Given the description of an element on the screen output the (x, y) to click on. 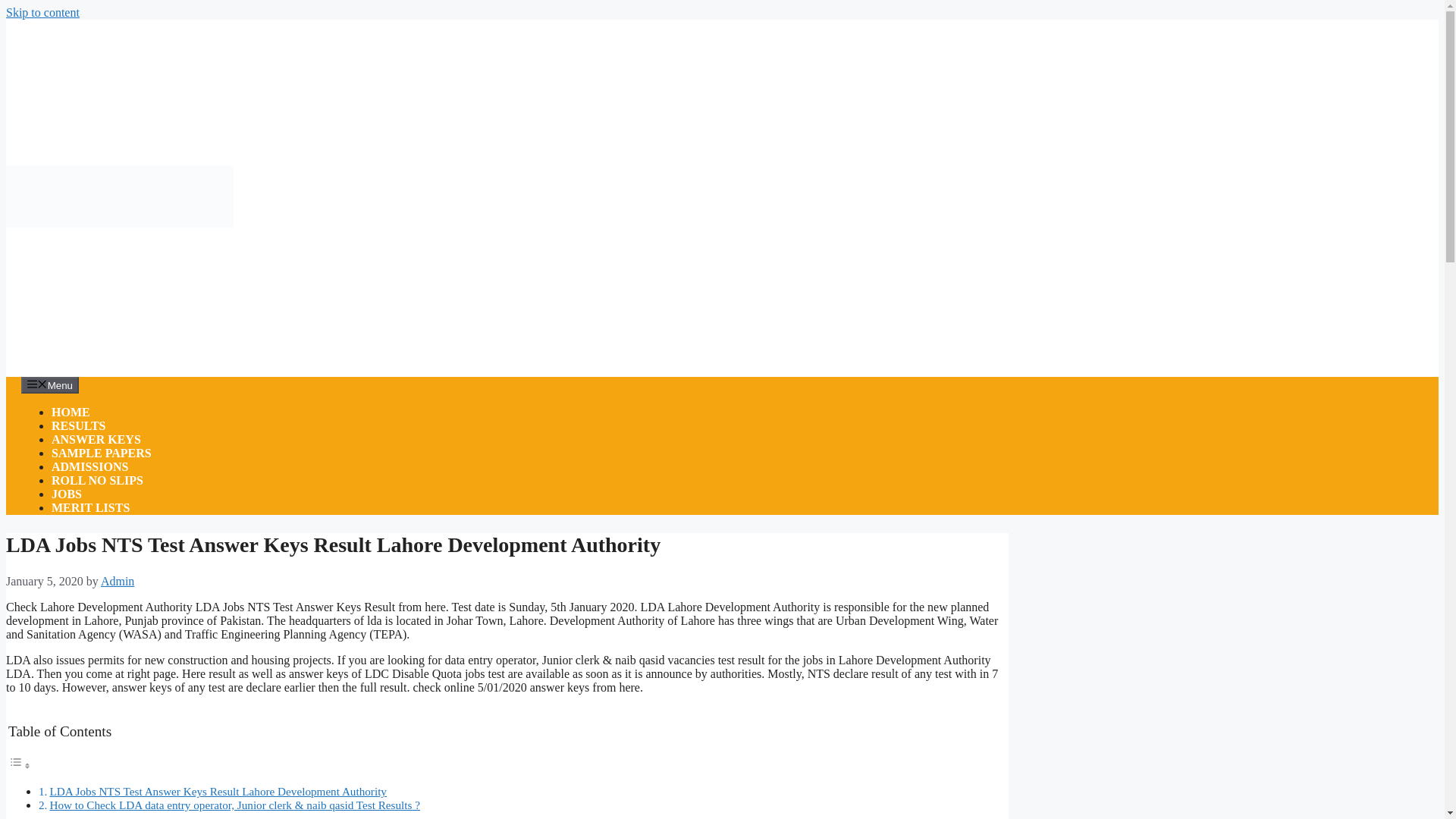
SAMPLE PAPERS (100, 452)
RESULTS (77, 425)
JOBS (65, 493)
Admin (116, 581)
ROLL NO SLIPS (96, 480)
Menu (49, 384)
HOME (70, 411)
Skip to content (42, 11)
Skip to content (42, 11)
ANSWER KEYS (95, 439)
MERIT LISTS (89, 507)
View all posts by Admin (116, 581)
ADMISSIONS (89, 466)
